Given the description of an element on the screen output the (x, y) to click on. 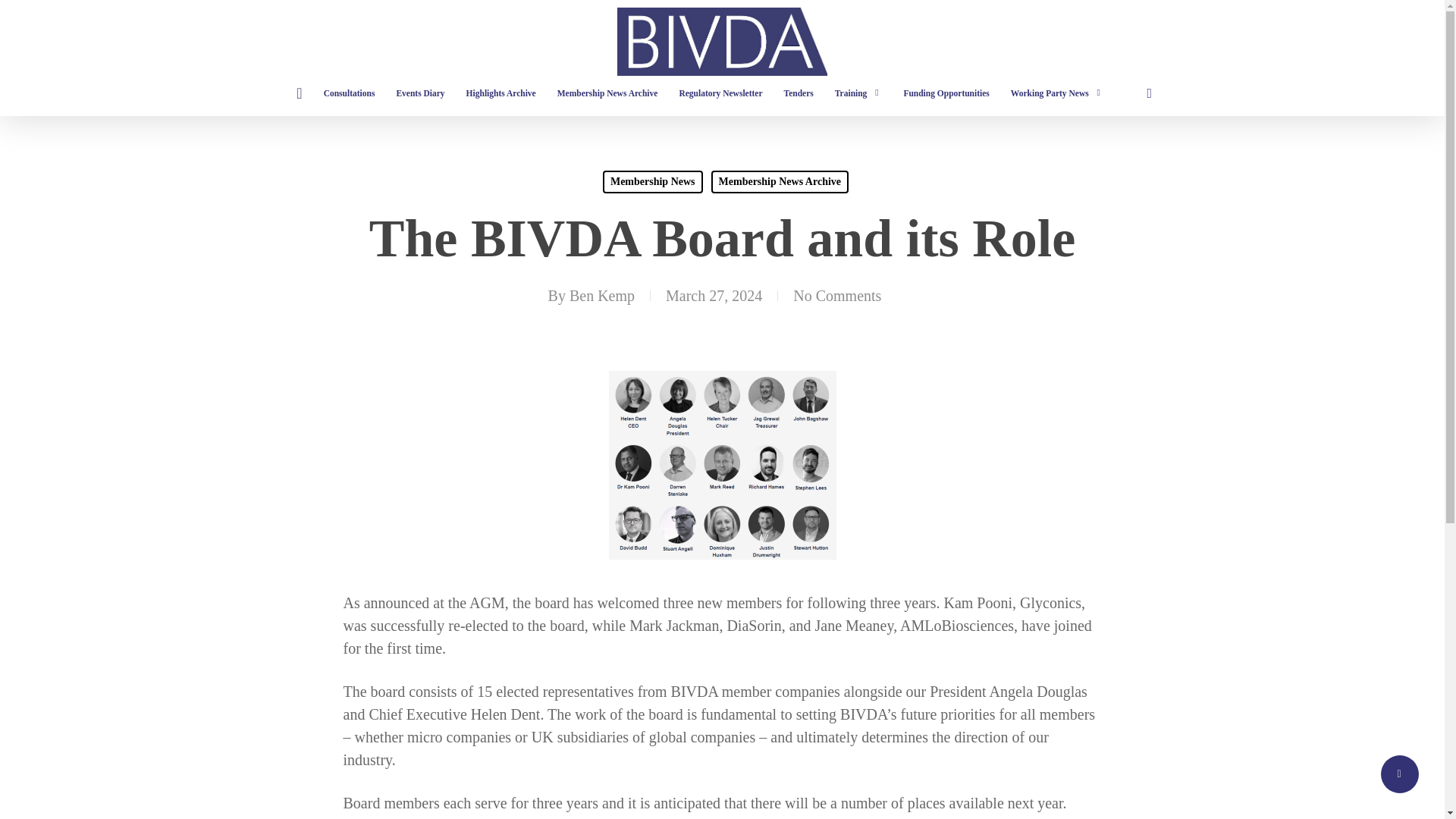
Ben Kemp (601, 295)
Training (858, 92)
Regulatory Newsletter (720, 92)
Membership News Archive (607, 92)
Posts by Ben Kemp (601, 295)
No Comments (836, 295)
Tenders (798, 92)
Consultations (349, 92)
Highlights Archive (501, 92)
Funding Opportunities (945, 92)
